Given the description of an element on the screen output the (x, y) to click on. 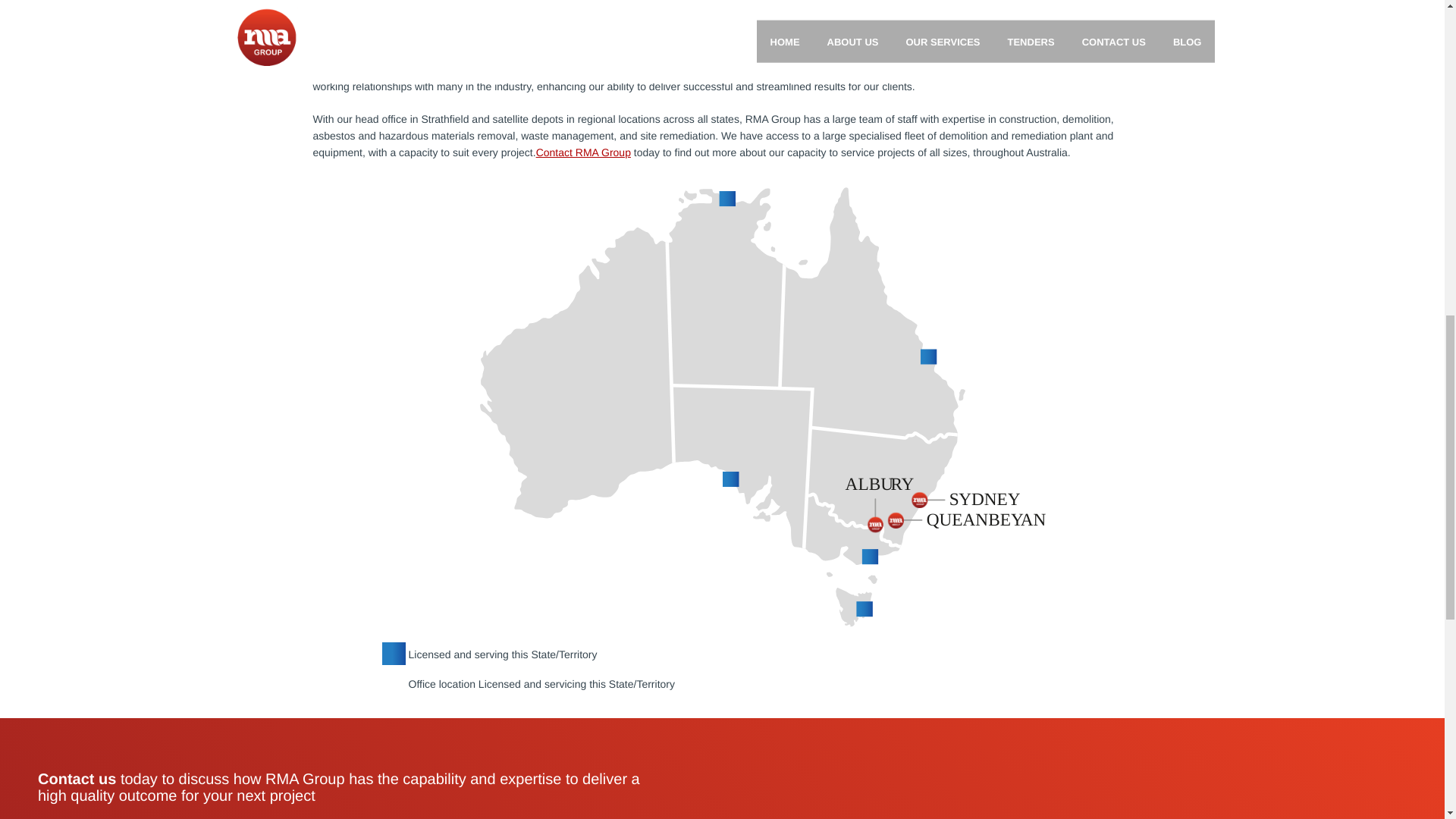
Contact RMA Group (582, 152)
Contact us (76, 778)
